Given the description of an element on the screen output the (x, y) to click on. 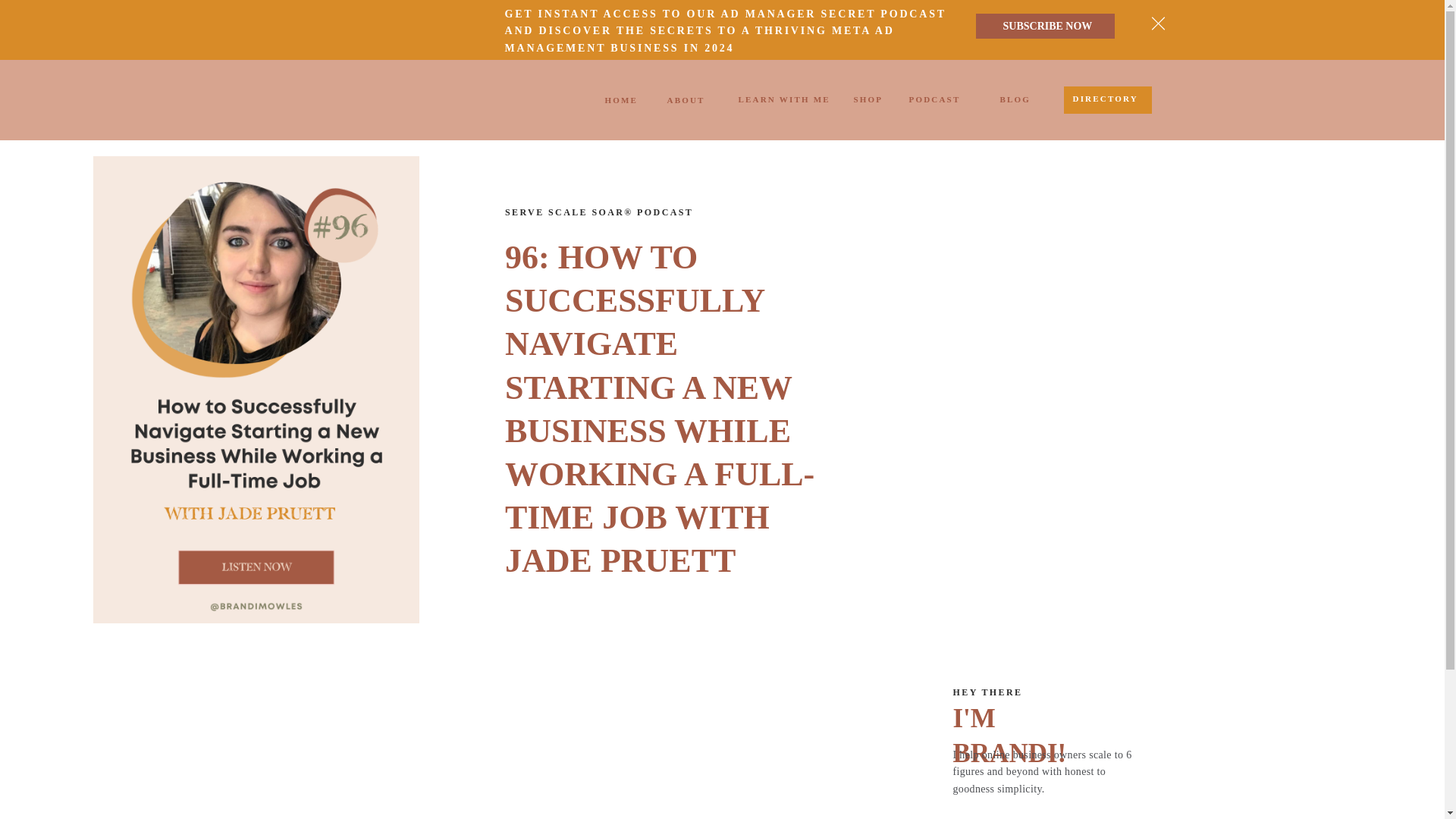
SHOP (871, 101)
SUBSCRIBE NOW (1051, 29)
ABOUT (688, 100)
BLOG (1014, 101)
PODCAST (936, 101)
LEARN WITH ME (786, 100)
HOME (622, 101)
DIRECTORY (1105, 100)
